Given the description of an element on the screen output the (x, y) to click on. 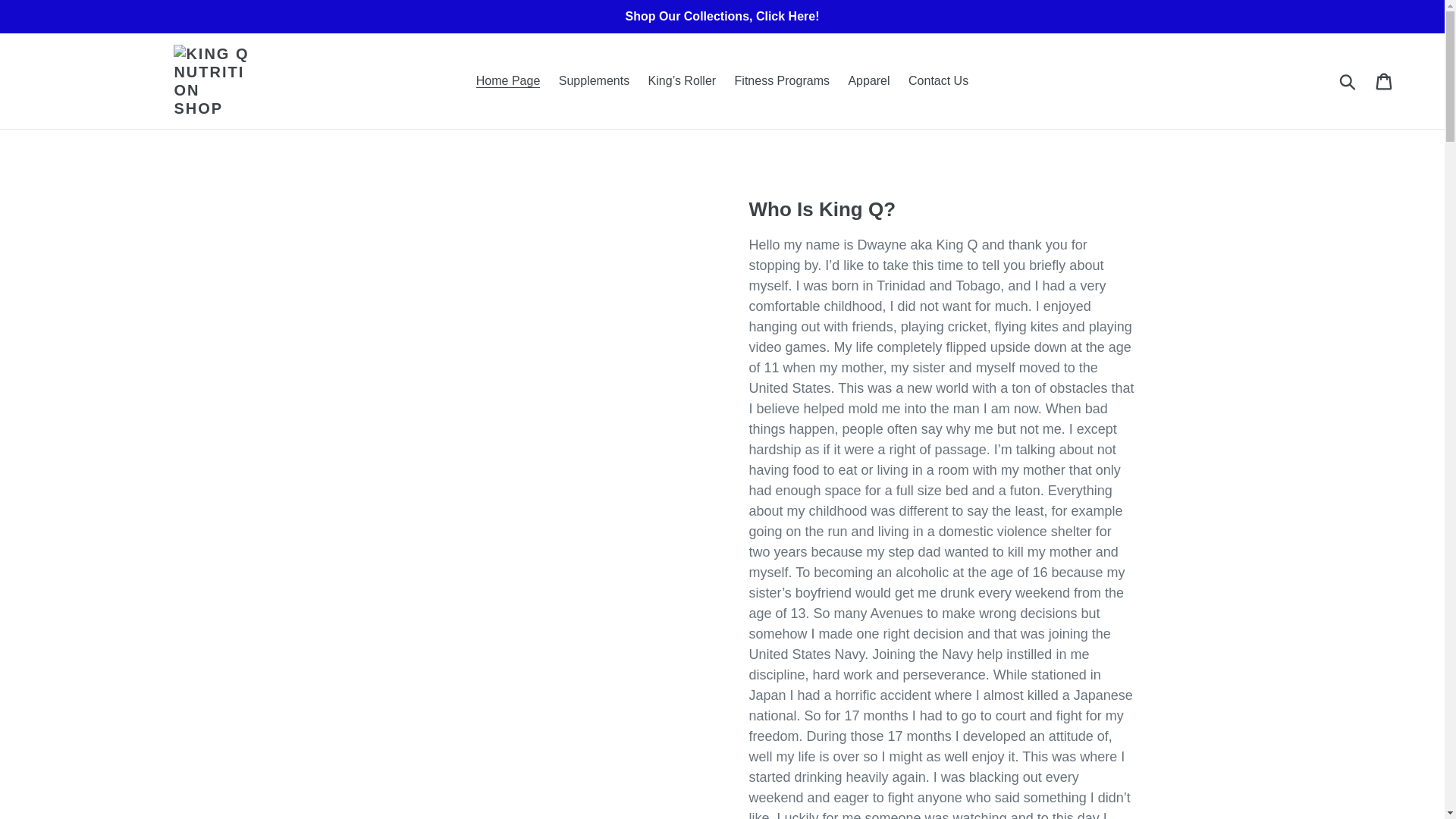
Submit (1348, 80)
Apparel (868, 80)
Home Page (508, 80)
Fitness Programs (781, 80)
Supplements (594, 80)
Contact Us (938, 80)
Cart (1385, 80)
